Given the description of an element on the screen output the (x, y) to click on. 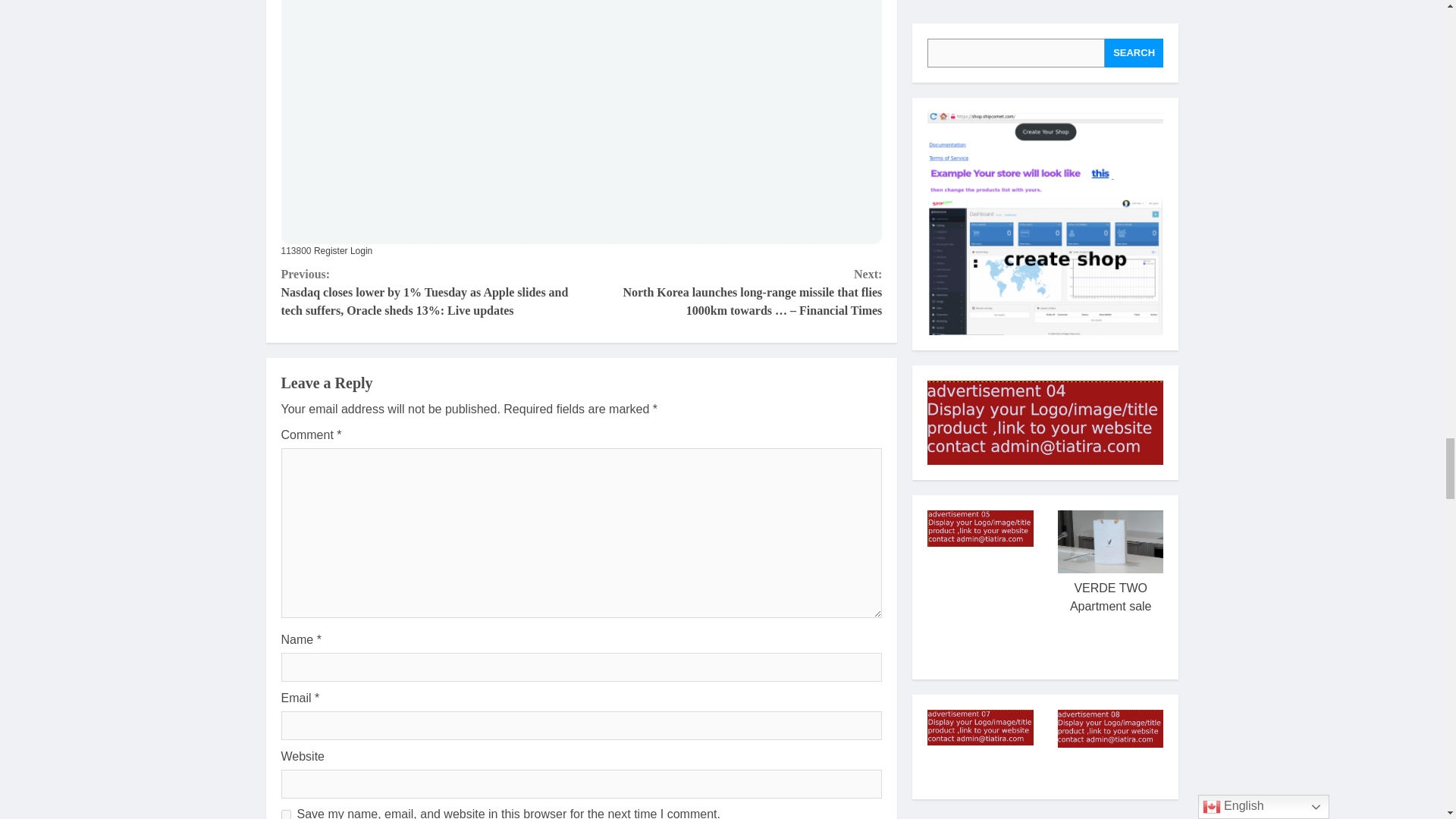
Login (359, 250)
Register (329, 250)
yes (285, 814)
